Given the description of an element on the screen output the (x, y) to click on. 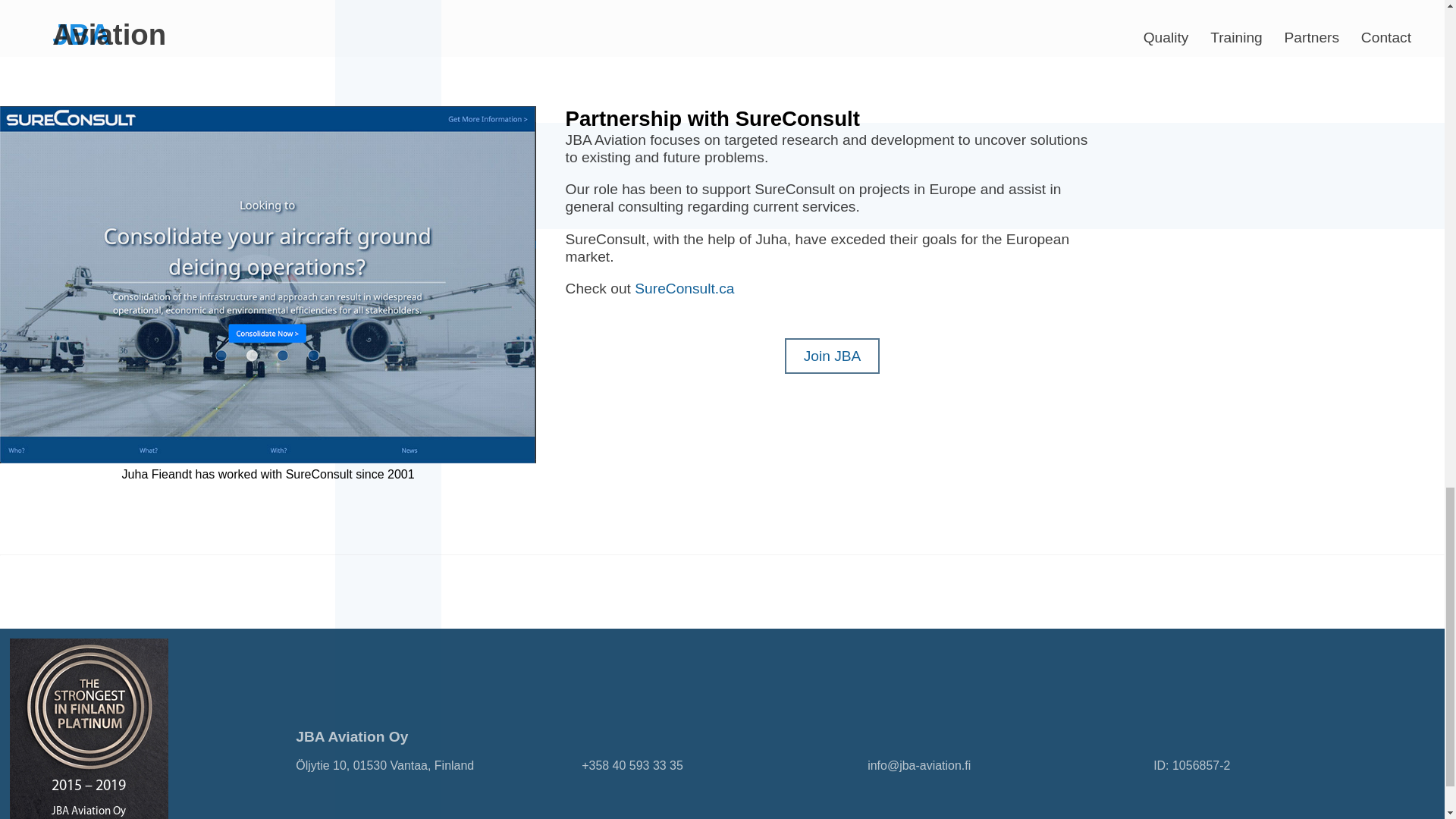
Join JBA (832, 355)
SureConsult.ca (683, 288)
